Given the description of an element on the screen output the (x, y) to click on. 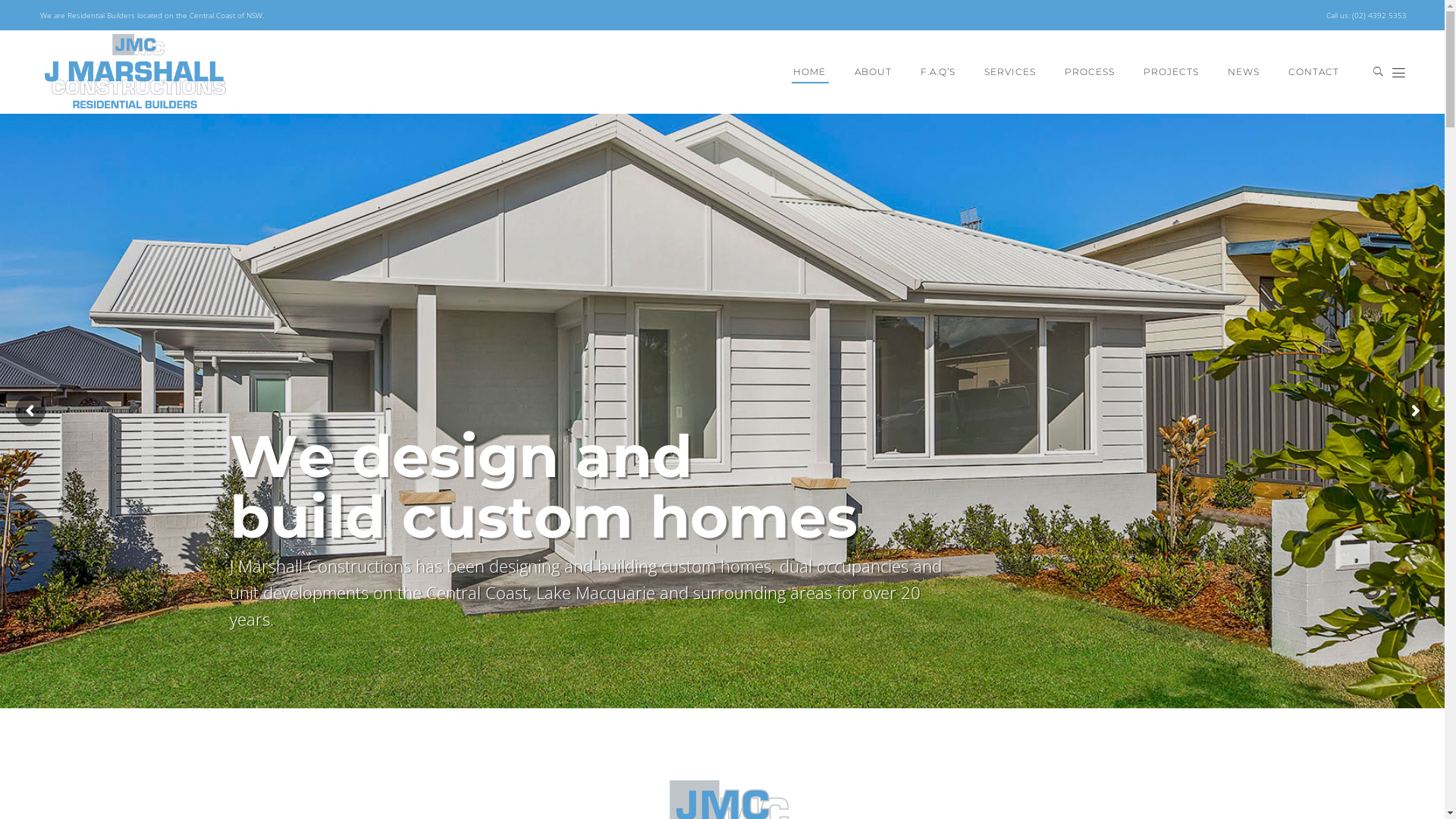
NEWS Element type: text (1243, 71)
SERVICES Element type: text (1009, 71)
ABOUT Element type: text (873, 71)
HOME Element type: text (809, 71)
PROJECTS Element type: text (1171, 71)
PROCESS Element type: text (1089, 71)
CONTACT Element type: text (1313, 71)
